Given the description of an element on the screen output the (x, y) to click on. 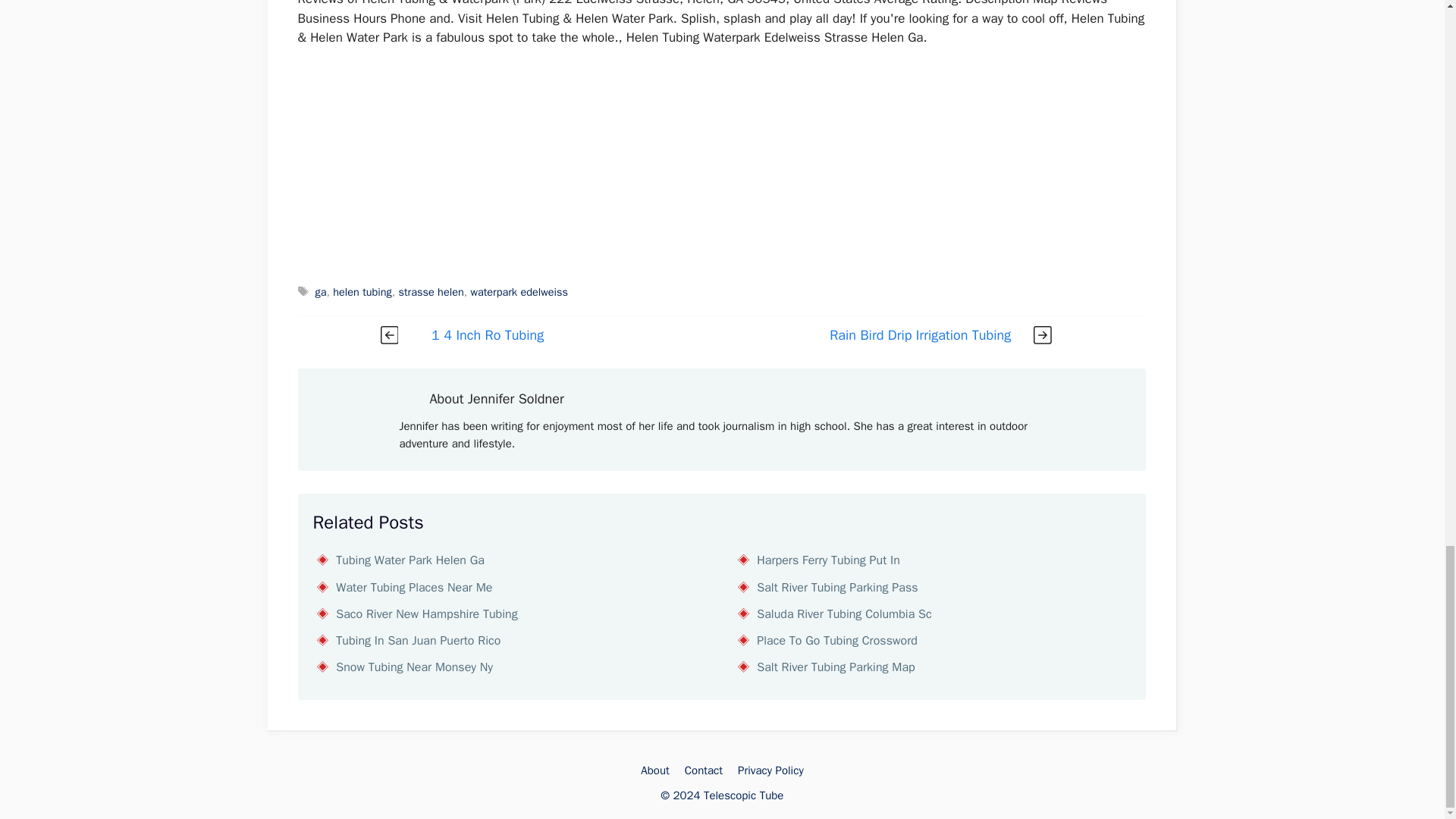
Snow Tubing Near Monsey Ny (414, 667)
Salt River Tubing Parking Pass (837, 587)
ga (320, 291)
Rain Bird Drip Irrigation Tubing (919, 334)
helen tubing (362, 291)
Tubing Water Park Helen Ga (410, 560)
Saluda River Tubing Columbia Sc (844, 613)
waterpark edelweiss (518, 291)
Saco River New Hampshire Tubing (426, 613)
Place To Go Tubing Crossword (837, 640)
Harpers Ferry Tubing Put In (828, 560)
1 4 Inch Ro Tubing (486, 334)
Water Tubing Places Near Me (414, 587)
Salt River Tubing Parking Map (835, 667)
About (654, 770)
